Given the description of an element on the screen output the (x, y) to click on. 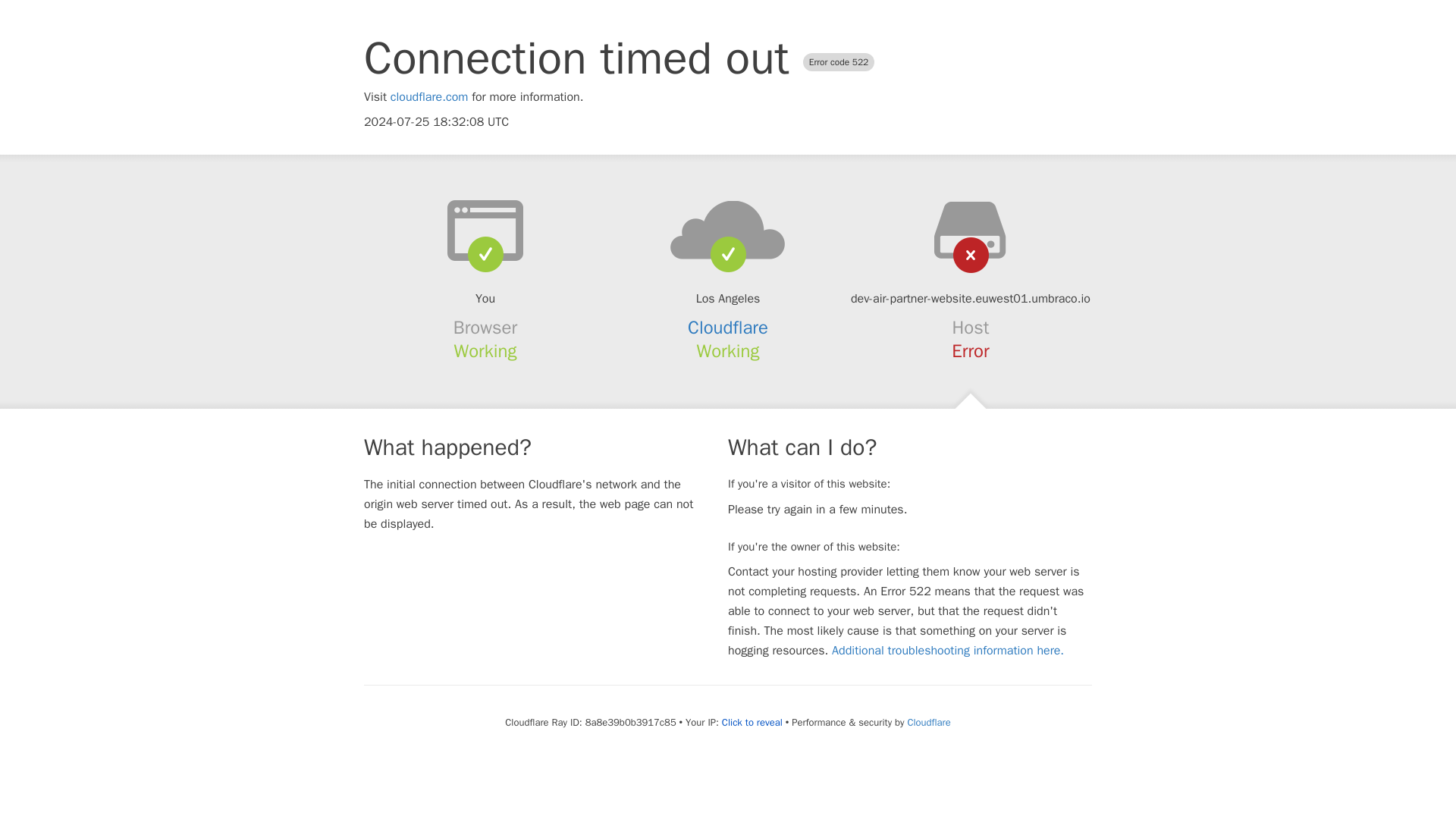
Cloudflare (928, 721)
Additional troubleshooting information here. (947, 650)
cloudflare.com (429, 96)
Cloudflare (727, 327)
Click to reveal (752, 722)
